Given the description of an element on the screen output the (x, y) to click on. 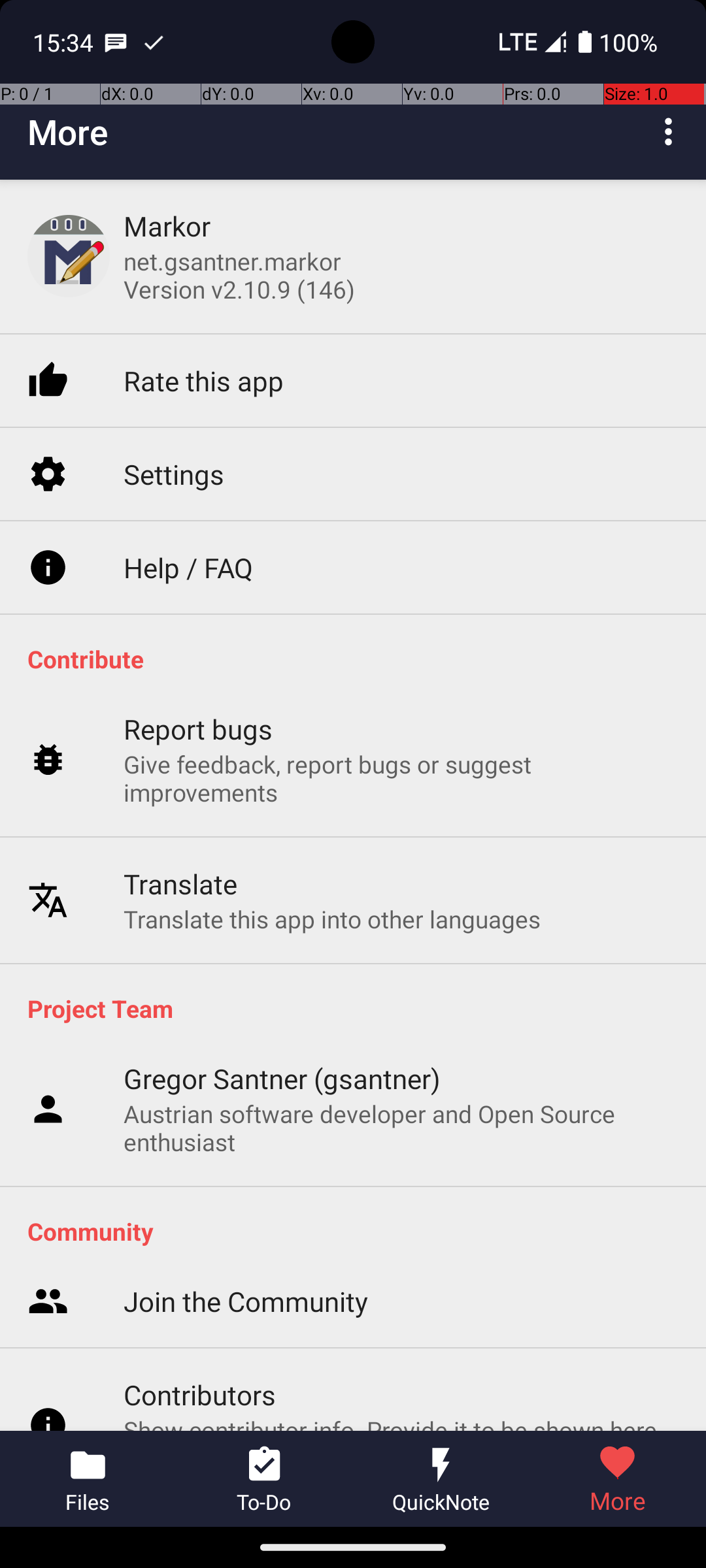
SMS Messenger notification: Daniel Ali Element type: android.widget.ImageView (115, 41)
